Given the description of an element on the screen output the (x, y) to click on. 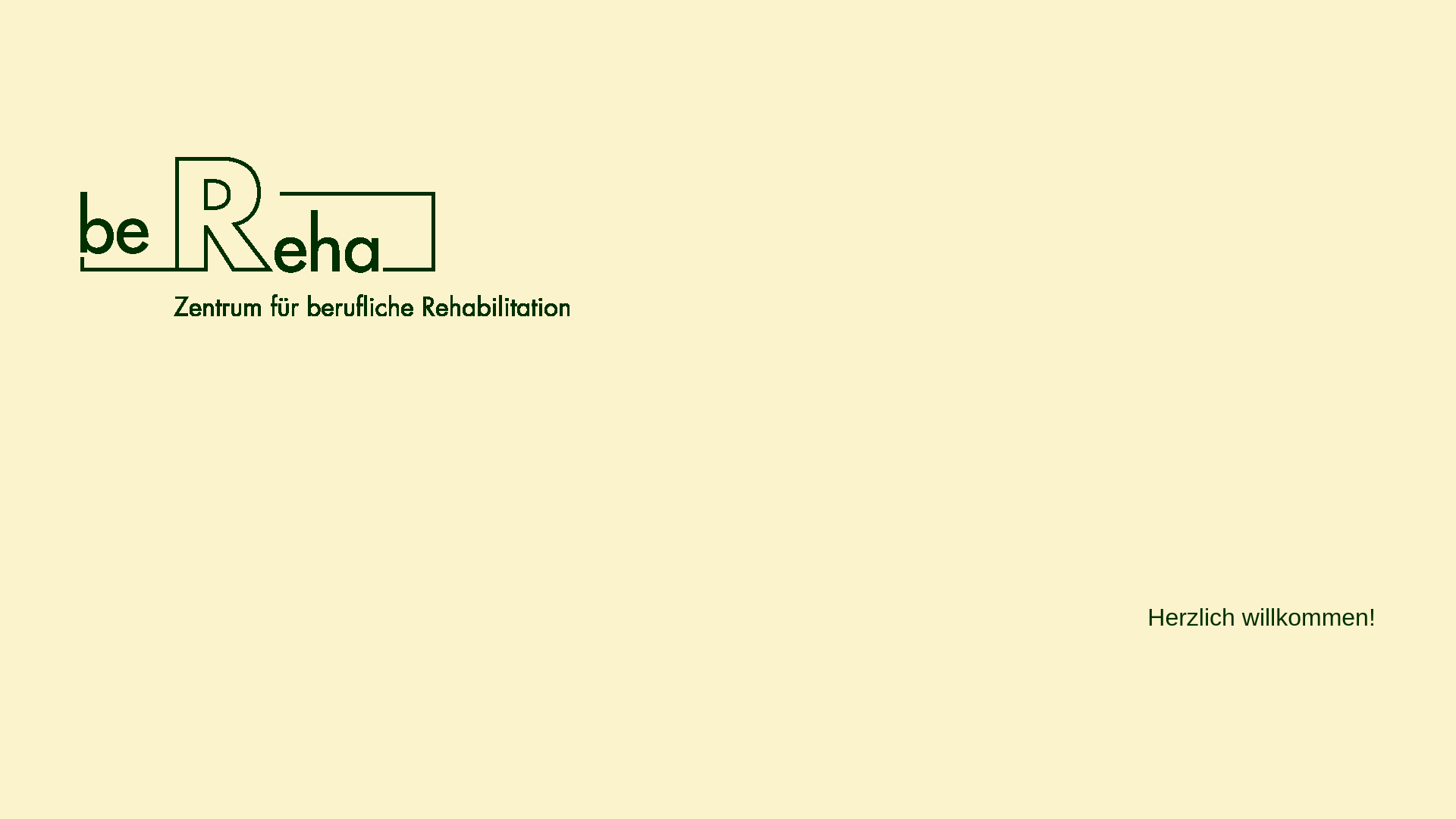
Herzlich willkommen! Element type: text (1261, 622)
